Given the description of an element on the screen output the (x, y) to click on. 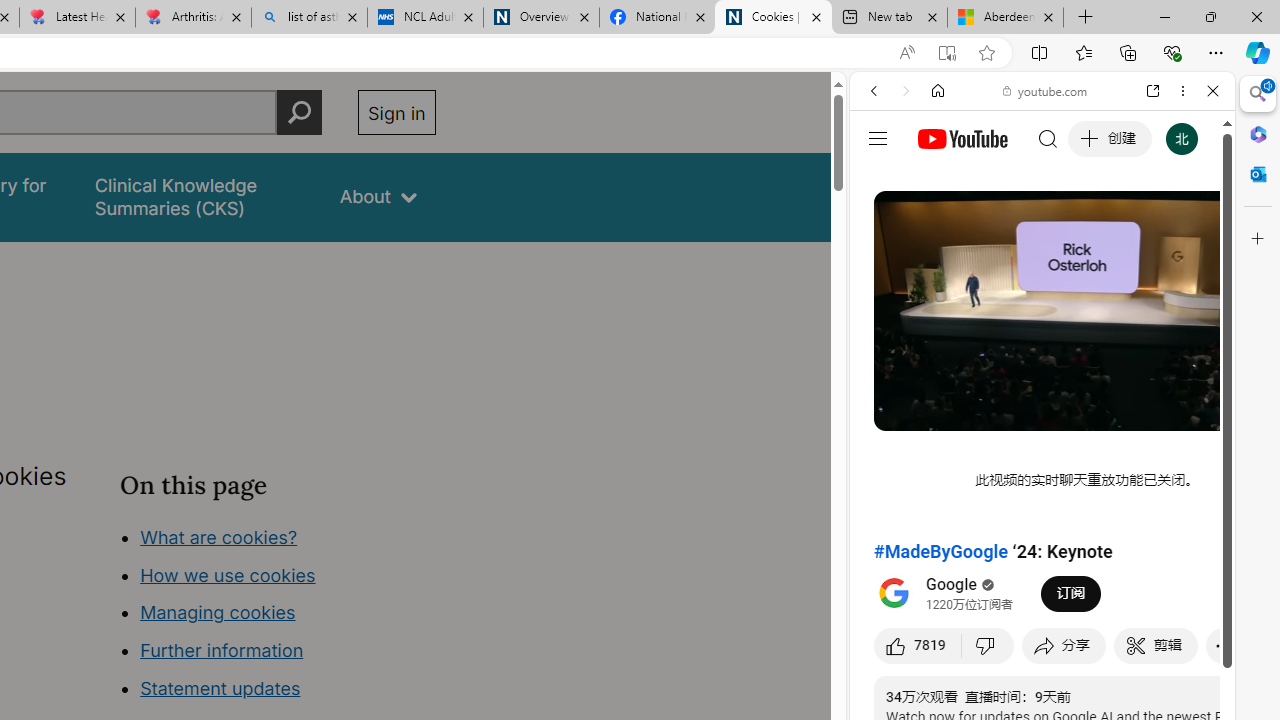
Global web icon (888, 288)
Trailer #2 [HD] (1042, 594)
list of asthma inhalers uk - Search (309, 17)
